Given the description of an element on the screen output the (x, y) to click on. 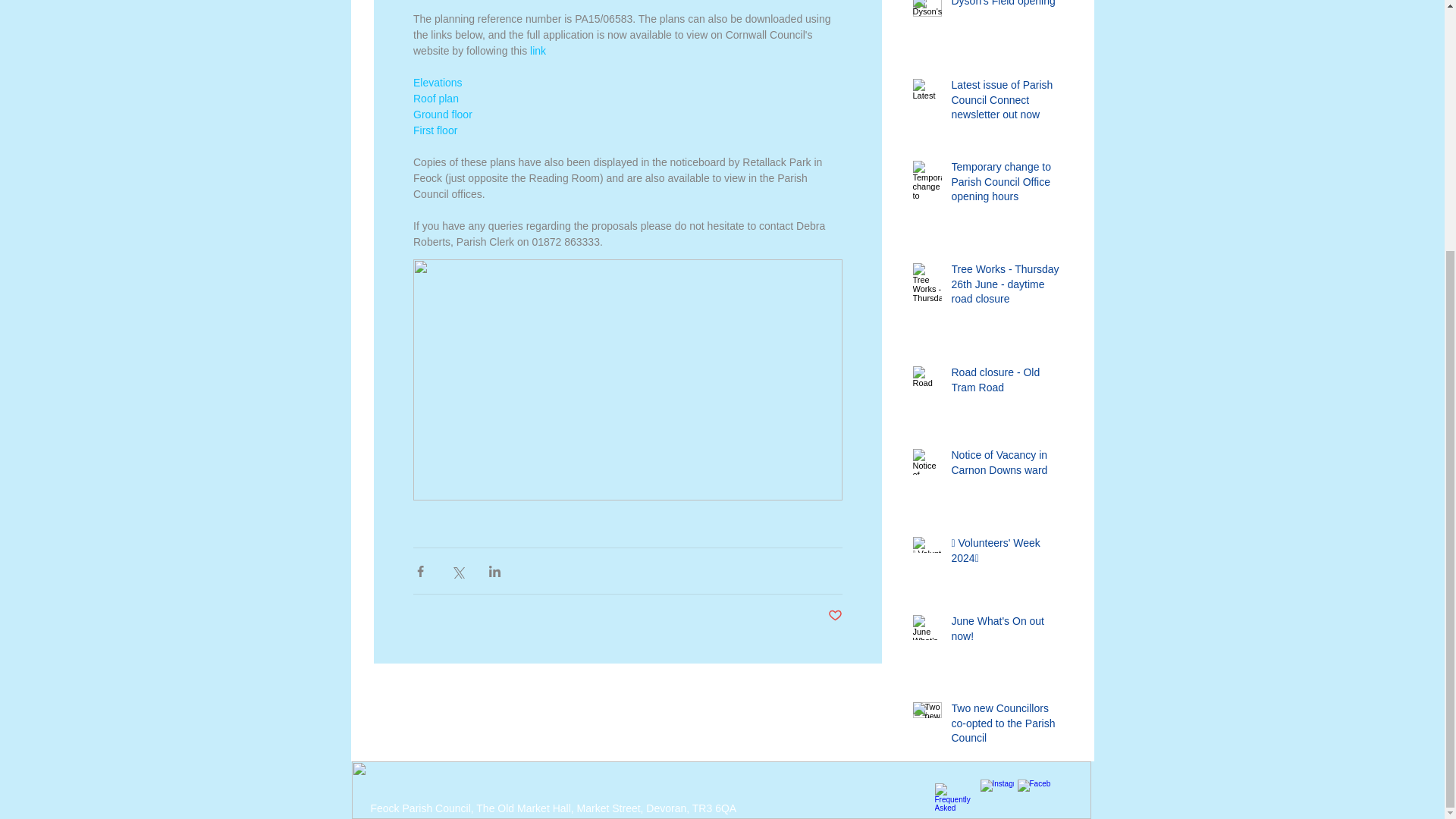
link (537, 50)
